Given the description of an element on the screen output the (x, y) to click on. 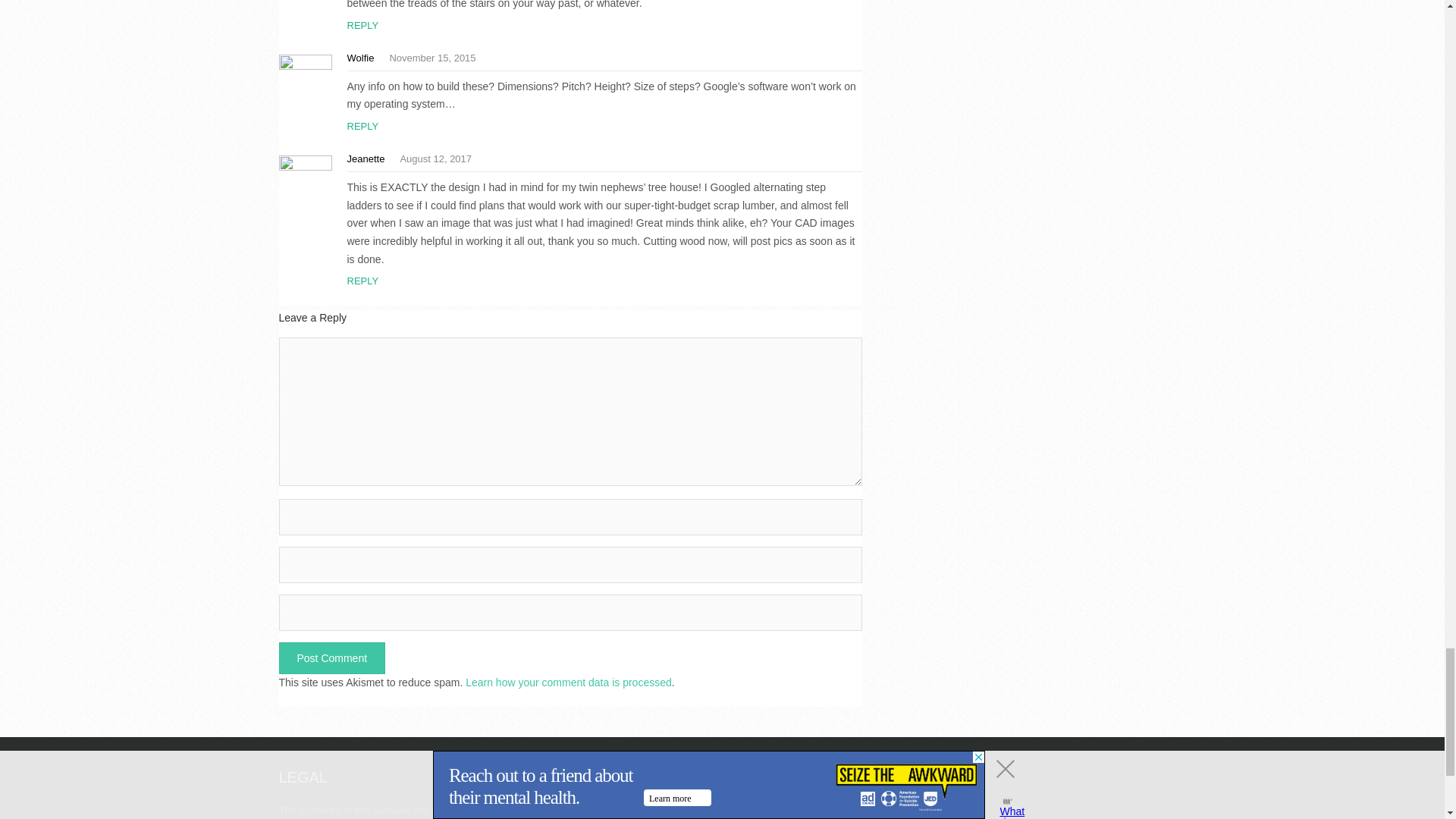
Post Comment (332, 658)
